Given the description of an element on the screen output the (x, y) to click on. 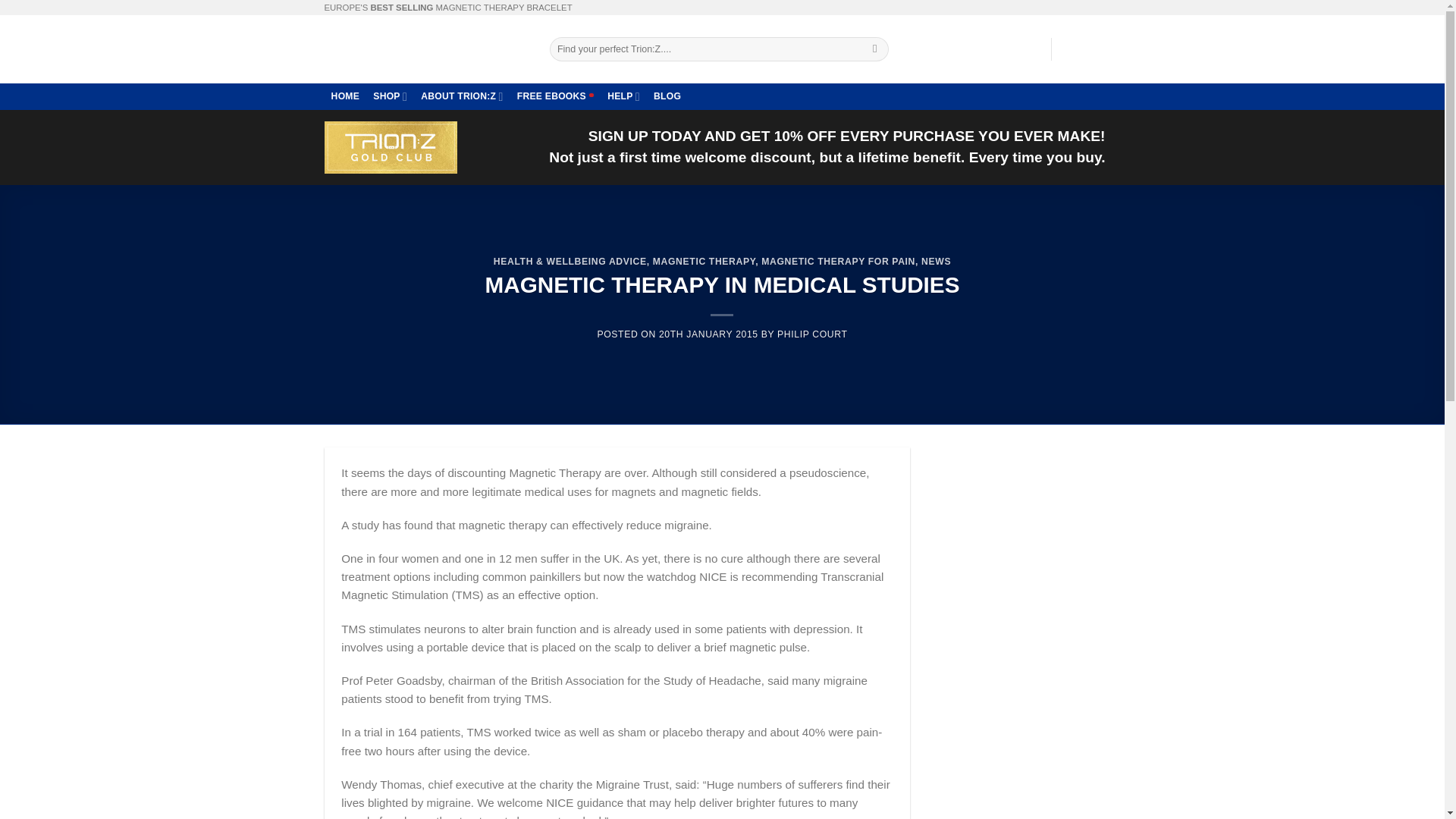
Basket (1090, 49)
HOME (345, 96)
SHOP (389, 96)
ABOUT TRION:Z (462, 96)
LOGIN (1024, 49)
Trion:Z - Europe's Best Selling Magnetic Therapy Bracelet (425, 49)
Search (874, 48)
HELP (622, 96)
BASKET (1090, 49)
FREE EBOOKS (555, 96)
